Given the description of an element on the screen output the (x, y) to click on. 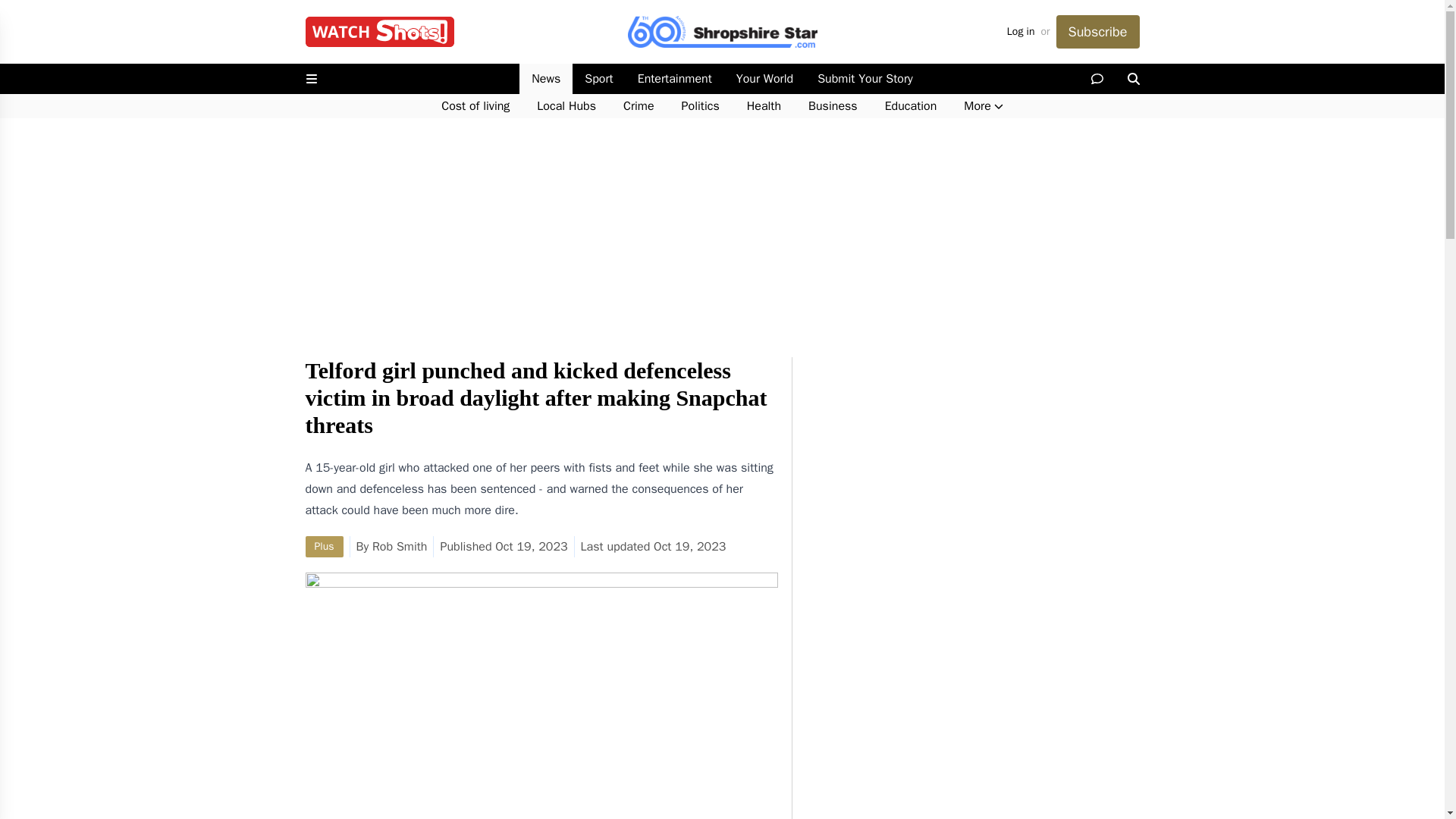
More (983, 105)
Business (832, 105)
Crime (638, 105)
Log in (1021, 31)
Education (910, 105)
Health (764, 105)
Politics (700, 105)
Cost of living (475, 105)
Subscribe (1096, 31)
Entertainment (674, 78)
Your World (764, 78)
Local Hubs (566, 105)
Sport (598, 78)
News (545, 78)
Submit Your Story (864, 78)
